Given the description of an element on the screen output the (x, y) to click on. 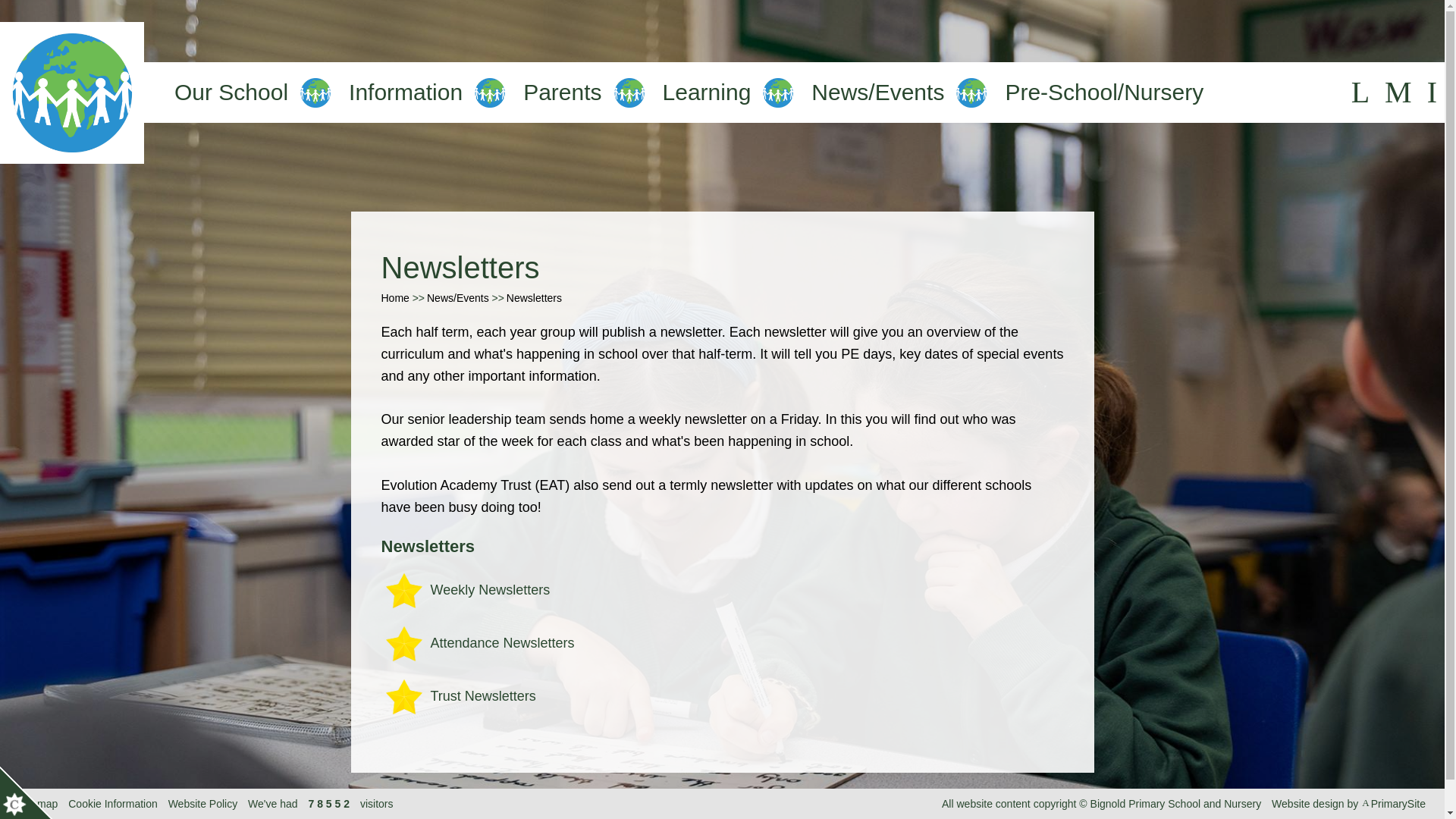
Information (406, 92)
Our School (231, 92)
Home Page (72, 92)
Parents (561, 92)
